Given the description of an element on the screen output the (x, y) to click on. 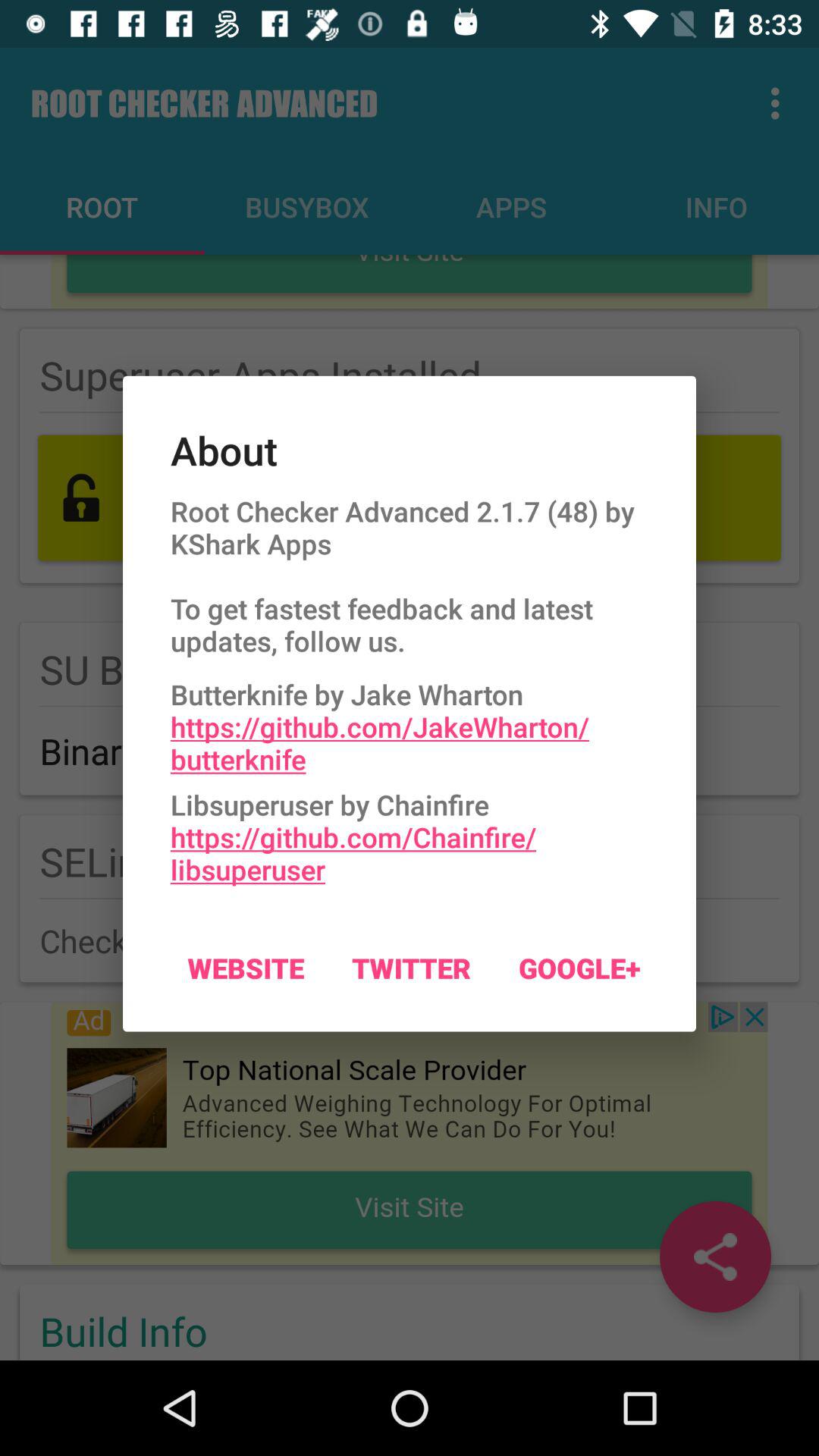
click the website on the left (245, 967)
